Given the description of an element on the screen output the (x, y) to click on. 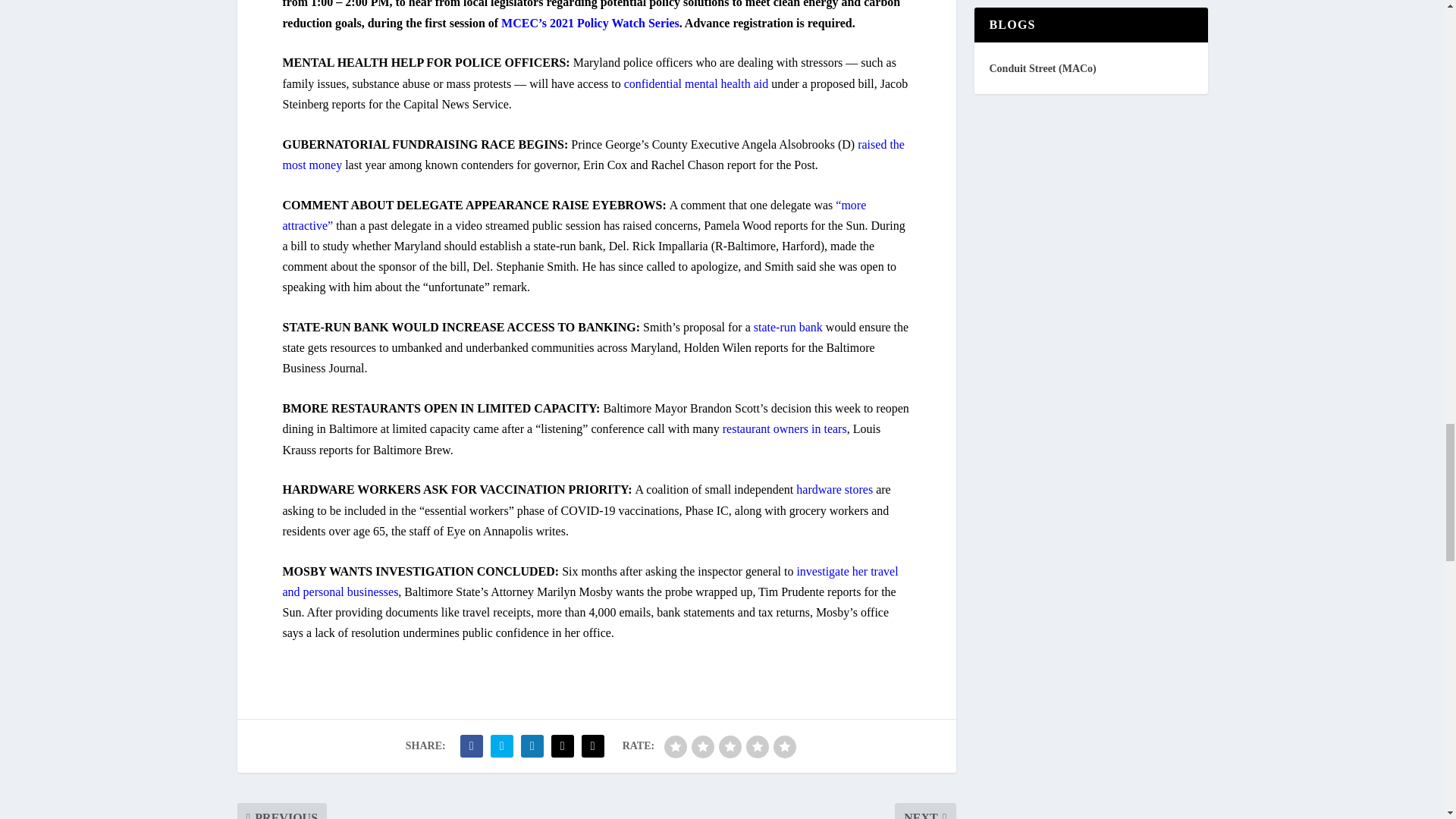
gorgeous (784, 746)
bad (675, 746)
good (756, 746)
regular (730, 746)
poor (702, 746)
